Given the description of an element on the screen output the (x, y) to click on. 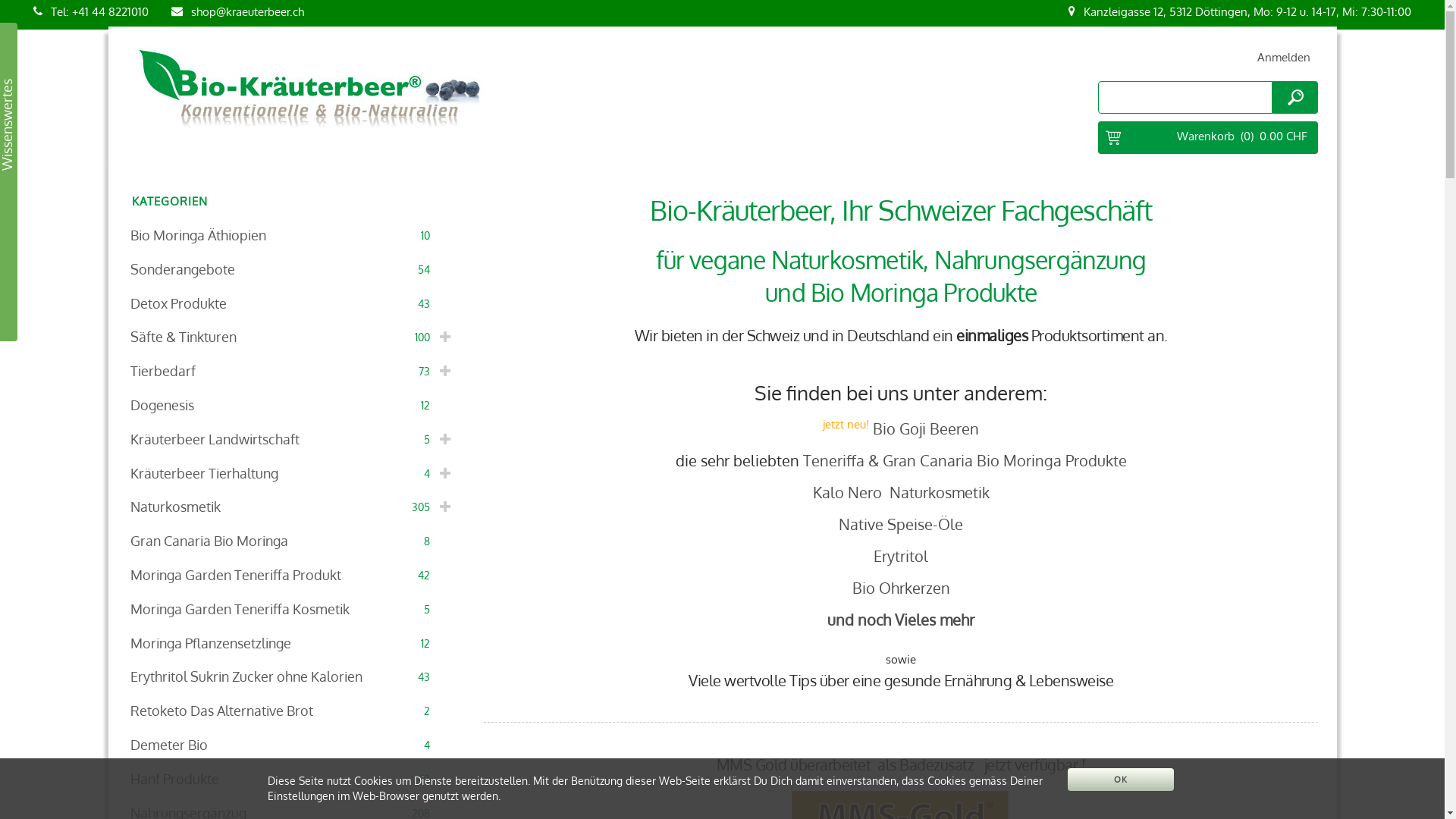
Moringa Pflanzensetzlinge
12 Element type: text (293, 643)
Erytritol Element type: text (900, 555)
Sonderangebote
54 Element type: text (293, 269)
Teneriffa & Gran Canaria Bio Moringa Produkte Element type: text (964, 460)
Moringa Garden Teneriffa Kosmetik
5 Element type: text (293, 609)
Demeter Bio
4 Element type: text (293, 745)
und noch Vieles mehr Element type: text (900, 619)
Anmelden Element type: text (1283, 56)
OK Element type: text (1120, 779)
Erythritol Sukrin Zucker ohne Kalorien
43 Element type: text (293, 676)
Detox Produkte
43 Element type: text (293, 303)
Hanf Produkte
12 Element type: text (293, 779)
Moringa Garden Teneriffa Produkt
42 Element type: text (293, 575)
Kalo Nero  Naturkosmetik Element type: text (900, 492)
Warenkorb (0)0.00 CHF Element type: text (1207, 137)
Bio Goji Beeren Element type: text (925, 428)
Naturkosmetik
305 Element type: text (293, 506)
Retoketo Das Alternative Brot
2 Element type: text (293, 710)
Dogenesis
12 Element type: text (293, 405)
Bio Ohrkerzen Element type: text (901, 587)
Gran Canaria Bio Moringa
8 Element type: text (293, 541)
Tierbedarf
73 Element type: text (293, 371)
